Given the description of an element on the screen output the (x, y) to click on. 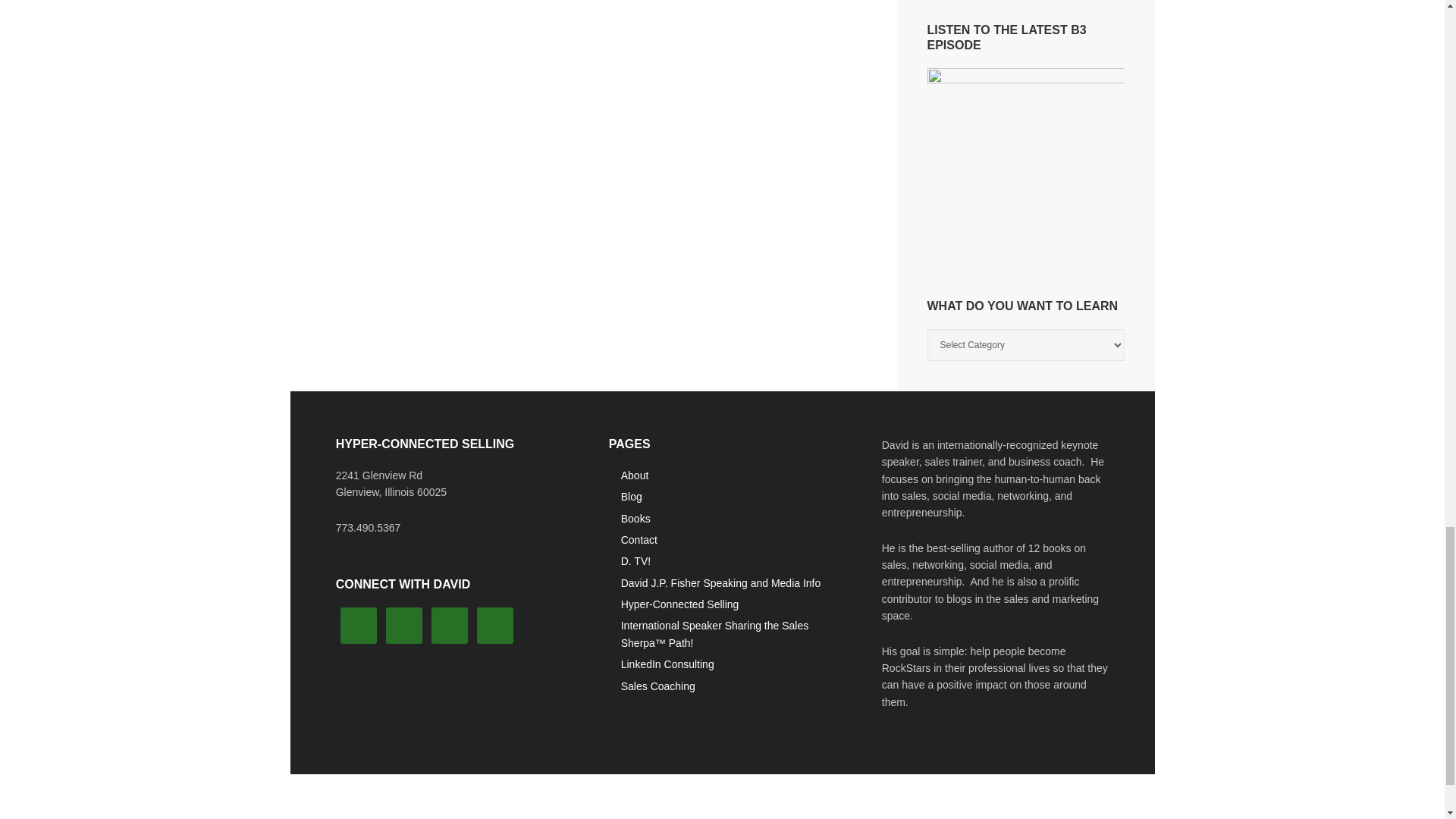
Books (635, 518)
SOCIAL SELLING (448, 811)
LINKEDIN (740, 811)
Sales Coaching (658, 686)
PROFESSIONAL NETWORKING (603, 811)
LinkedIn Consulting (667, 664)
D. TV! (635, 561)
About (635, 475)
Contact (639, 539)
SALES MANAGEMENT (982, 811)
Blog (631, 496)
SALES COACHING (845, 811)
David J.P. Fisher Speaking and Media Info (721, 582)
Hyper-Connected Selling (680, 604)
